Given the description of an element on the screen output the (x, y) to click on. 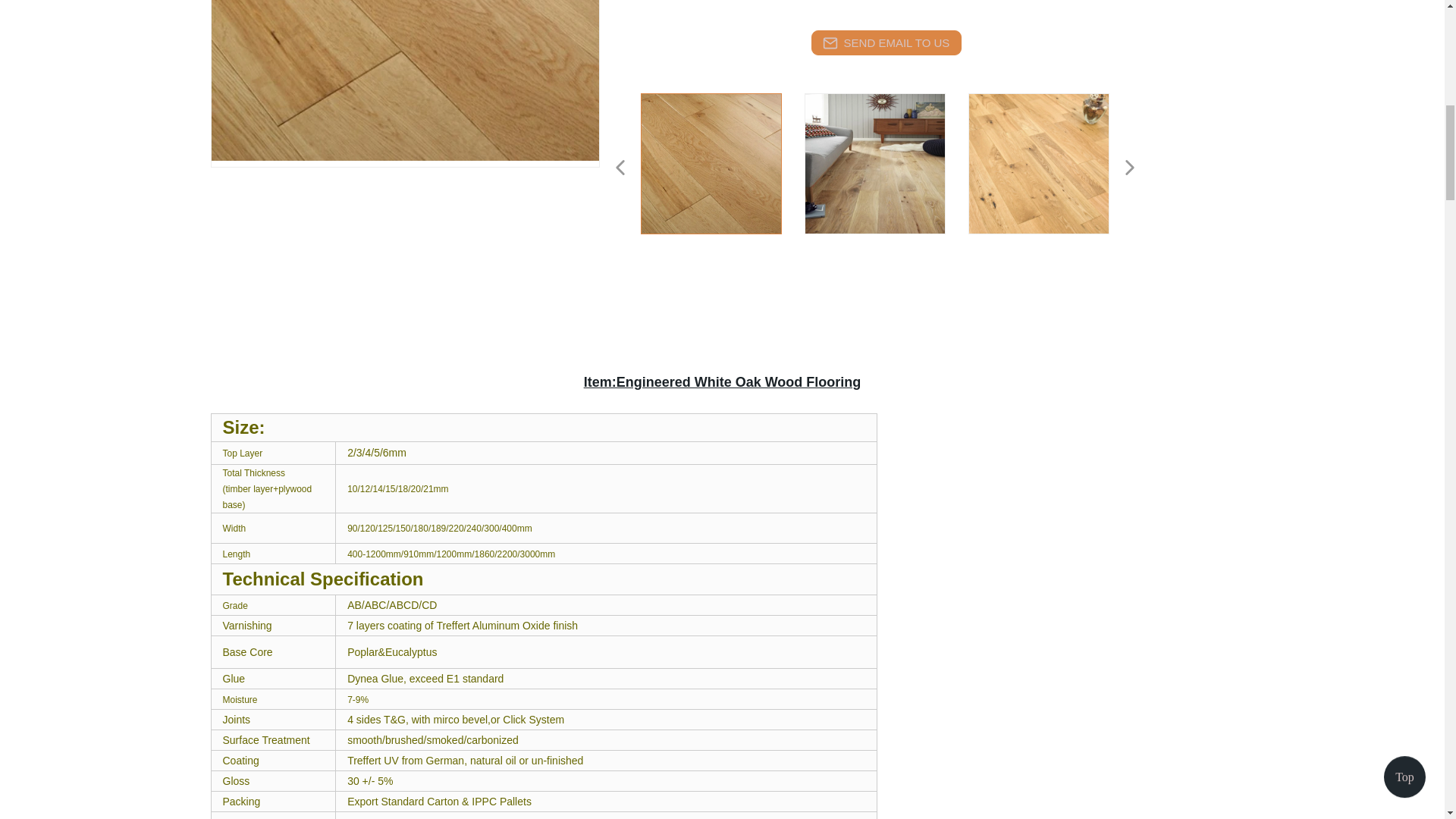
SEND EMAIL TO US (885, 42)
